Given the description of an element on the screen output the (x, y) to click on. 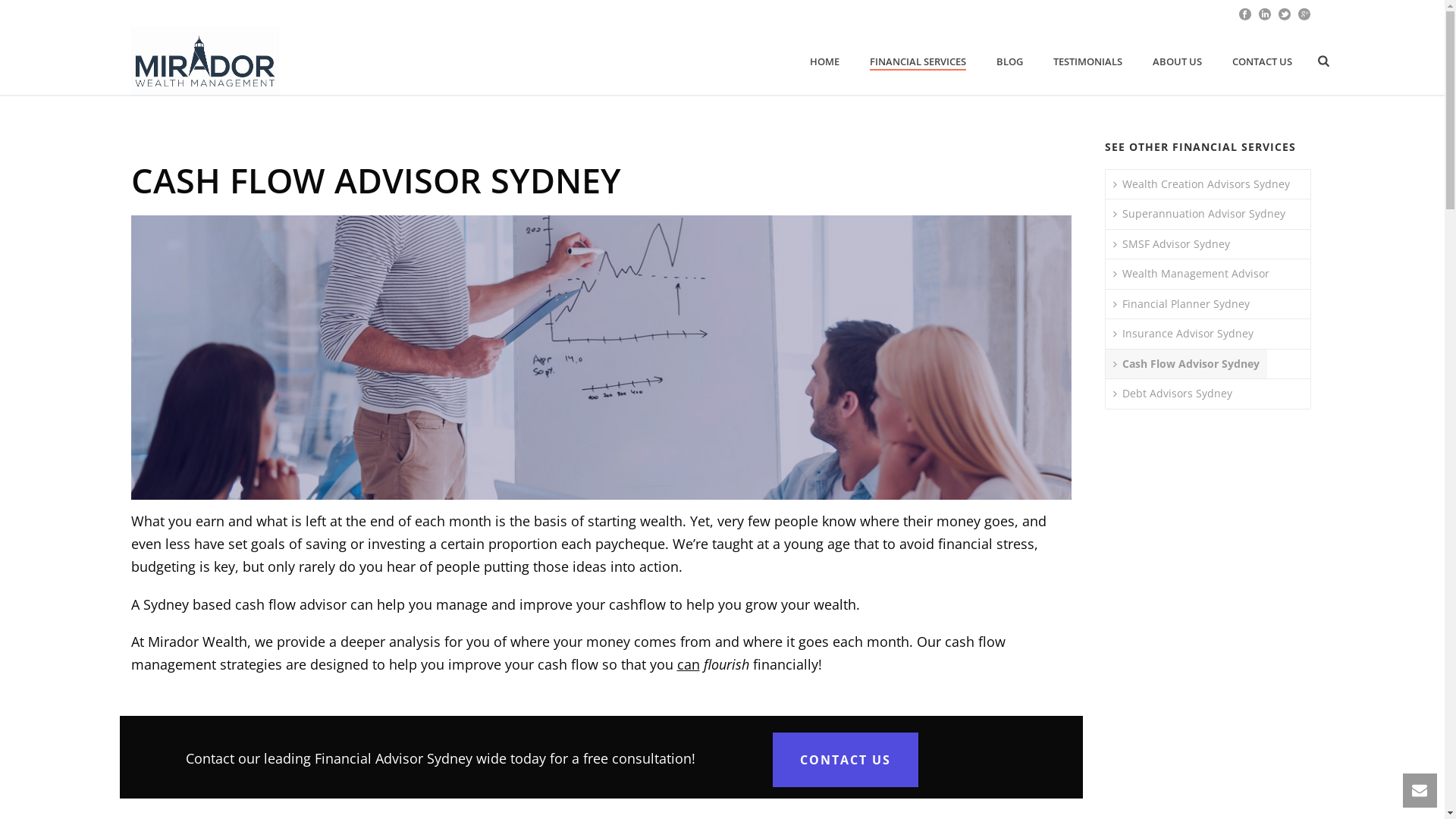
ABOUT US Element type: text (1177, 61)
CONTACT US Element type: text (1262, 61)
BLOG Element type: text (1009, 61)
SMSF Advisor Sydney Element type: text (1171, 244)
Wealth Management Advisor Element type: text (1191, 273)
Superannuation Advisor Sydney Element type: text (1198, 214)
Debt Advisors Sydney Element type: text (1172, 393)
FINANCIAL SERVICES Element type: text (917, 61)
TESTIMONIALS Element type: text (1087, 61)
Financial Advisor Sydney Element type: text (393, 758)
Wealth Creation Advisors Sydney Element type: text (1201, 184)
Cash Flow Advisor Sydney Element type: text (1186, 364)
Financial Planner Sydney Element type: text (1181, 304)
Insurance Advisor Sydney Element type: text (1183, 333)
HOME Element type: text (824, 61)
Financial Advisor Sydney Element type: hover (204, 60)
CONTACT US Element type: text (845, 759)
